Given the description of an element on the screen output the (x, y) to click on. 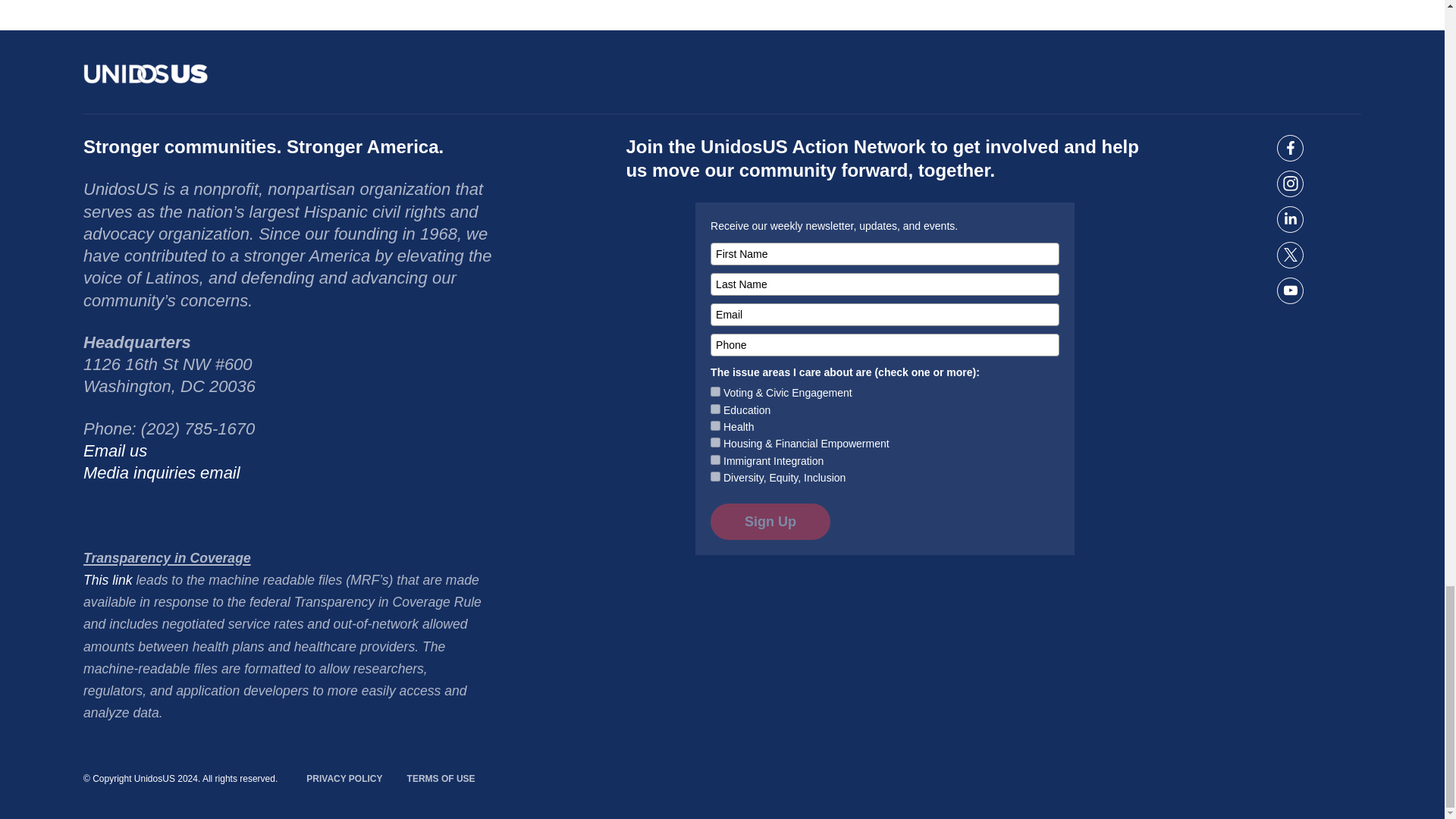
Immigrant Integration (715, 460)
Connect on X (1289, 254)
Media inquiries email (161, 472)
Education (715, 409)
This link (107, 580)
TERMS OF USE (440, 779)
Connect on Facebook (1289, 148)
Connect on YouTube (1289, 290)
Diversity, Equity, Inclusion (715, 476)
Email us (114, 450)
